Given the description of an element on the screen output the (x, y) to click on. 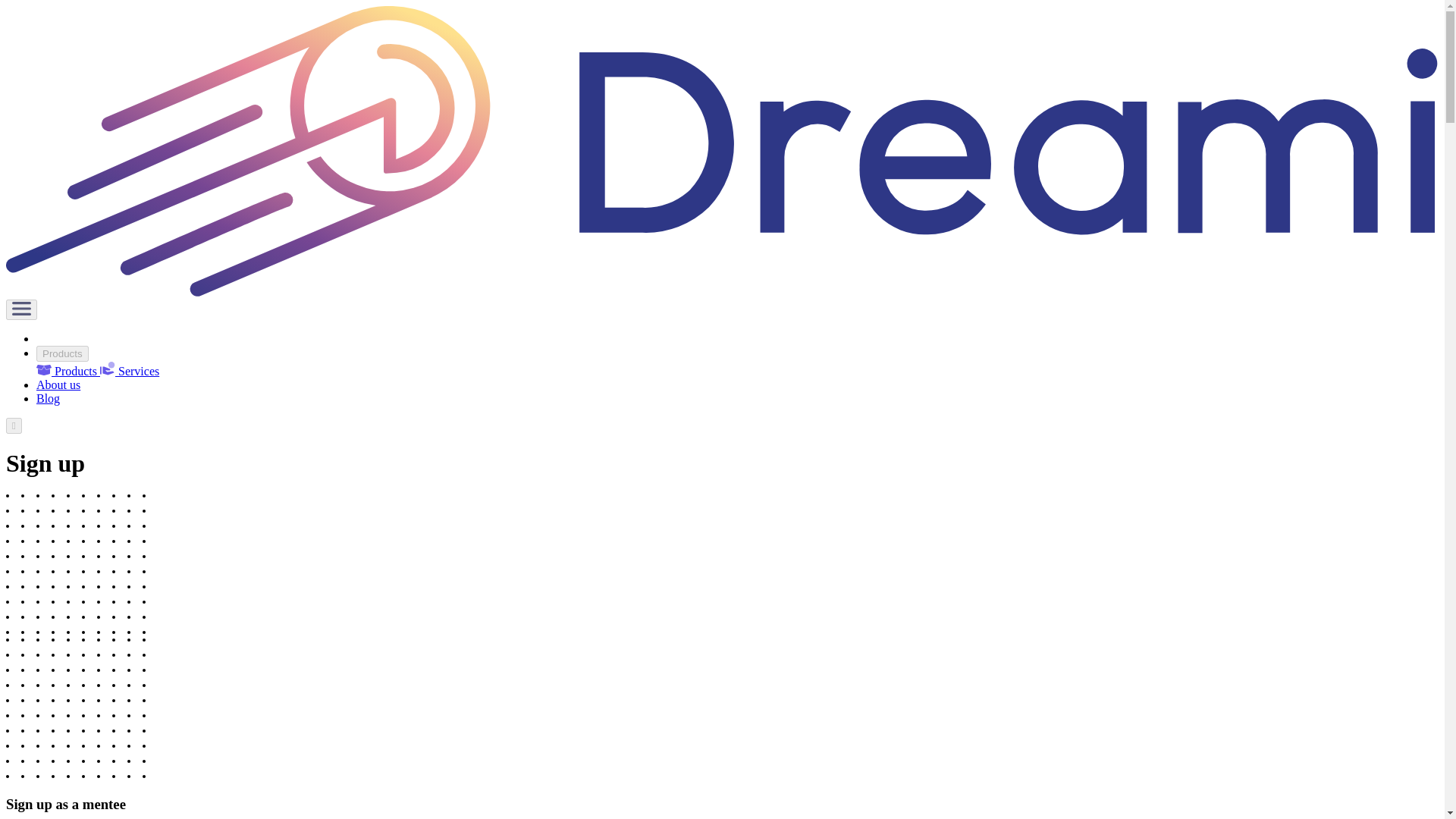
Products (62, 353)
Services (129, 370)
Blog (47, 398)
Products (68, 370)
About us (58, 384)
